Given the description of an element on the screen output the (x, y) to click on. 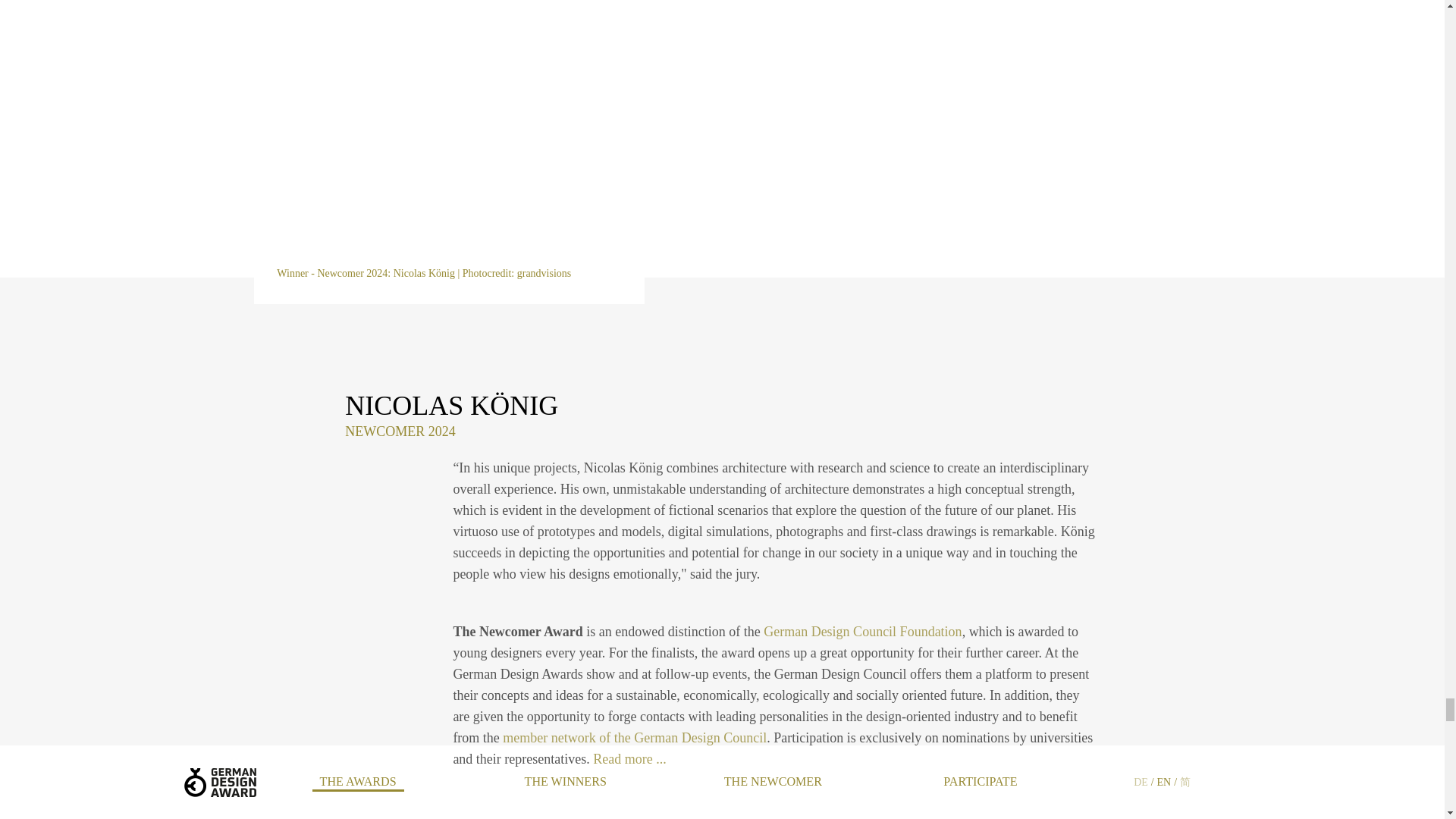
German Design Council Foundation (861, 631)
member network of the German Design Council (634, 737)
Read more ... (628, 758)
